Given the description of an element on the screen output the (x, y) to click on. 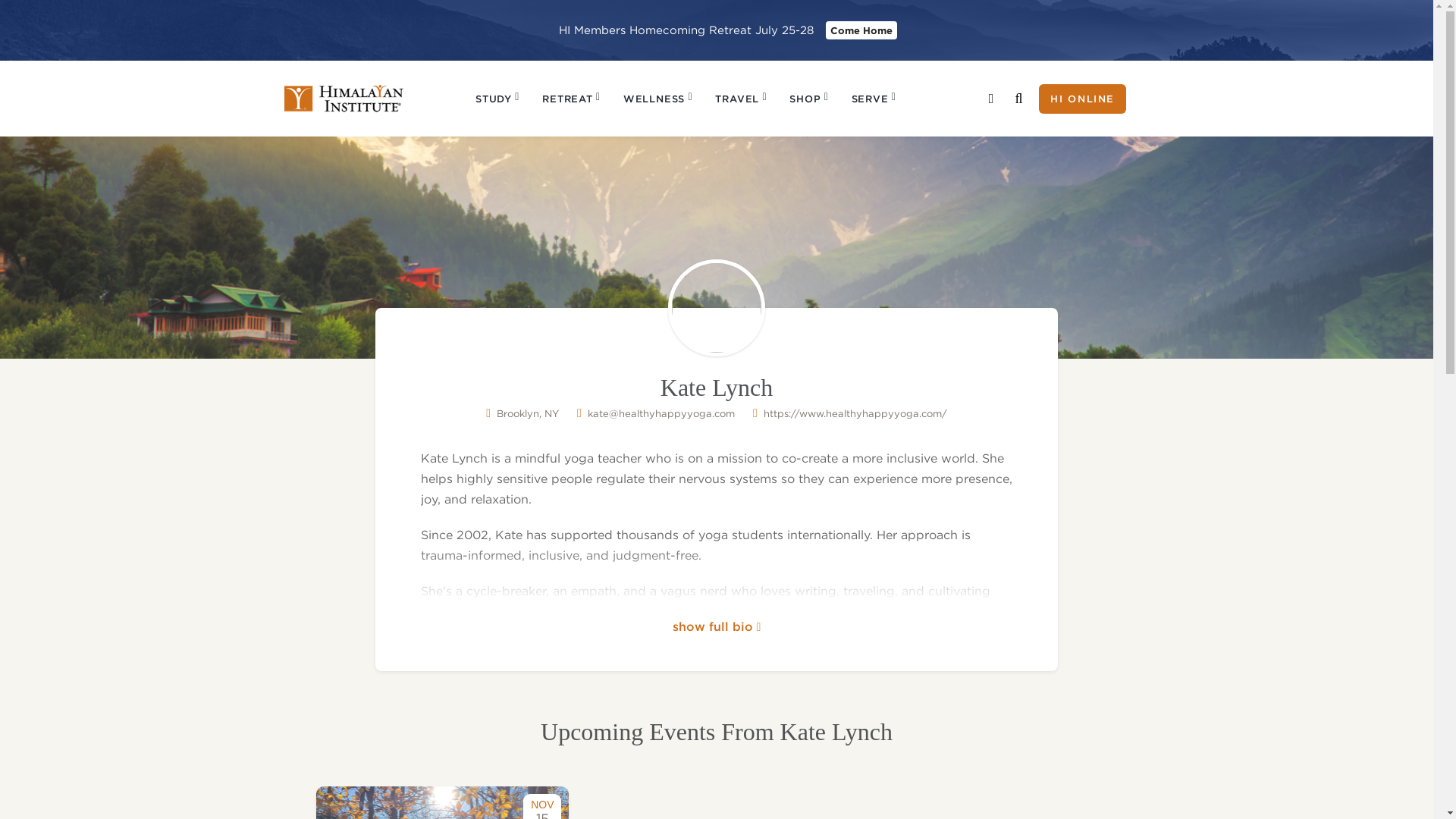
WELLNESS (657, 98)
RETREAT (571, 98)
